Given the description of an element on the screen output the (x, y) to click on. 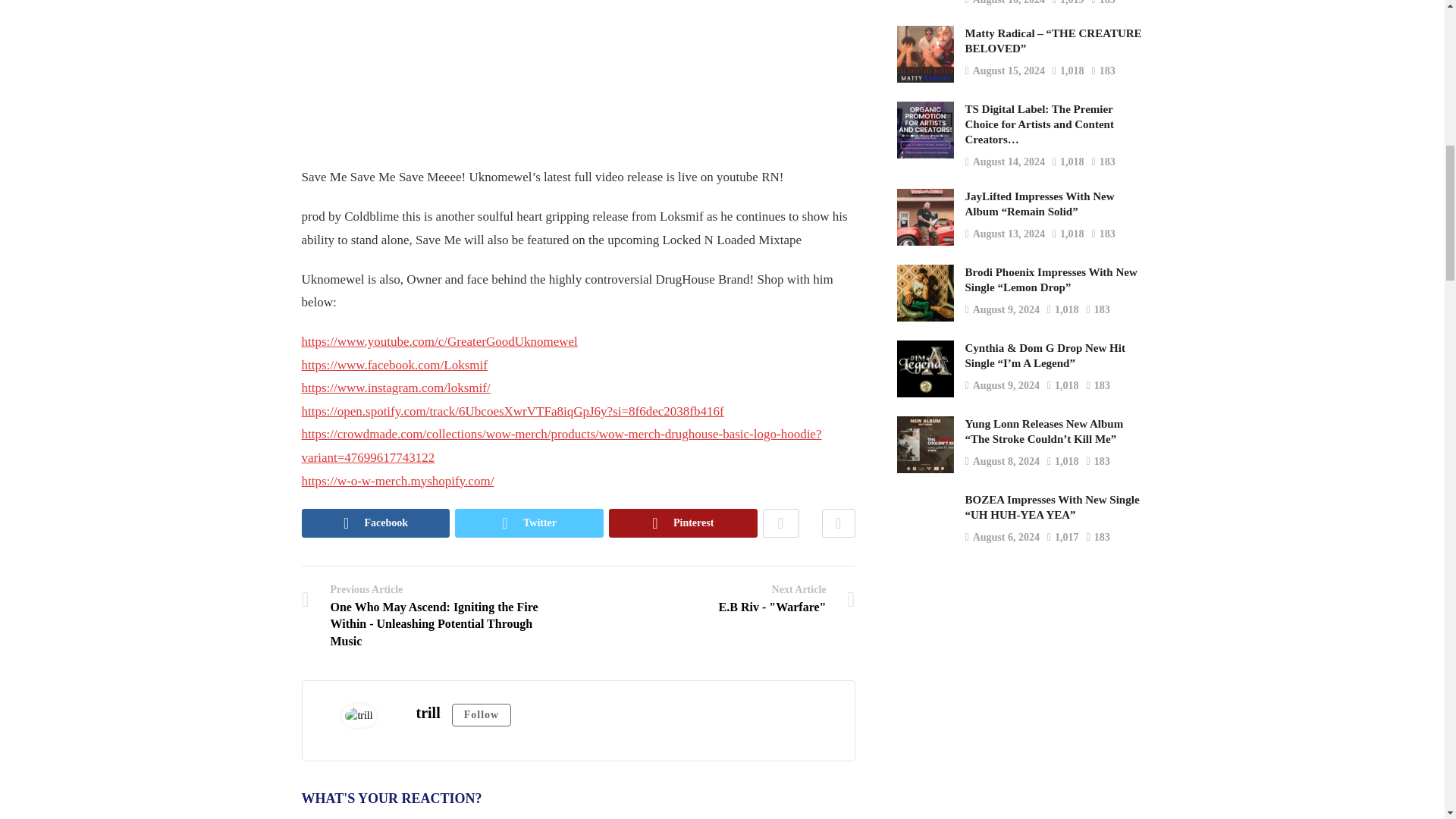
Twitter (529, 522)
Pinterest (682, 522)
Facebook (375, 522)
Add Bookmark (839, 522)
